Given the description of an element on the screen output the (x, y) to click on. 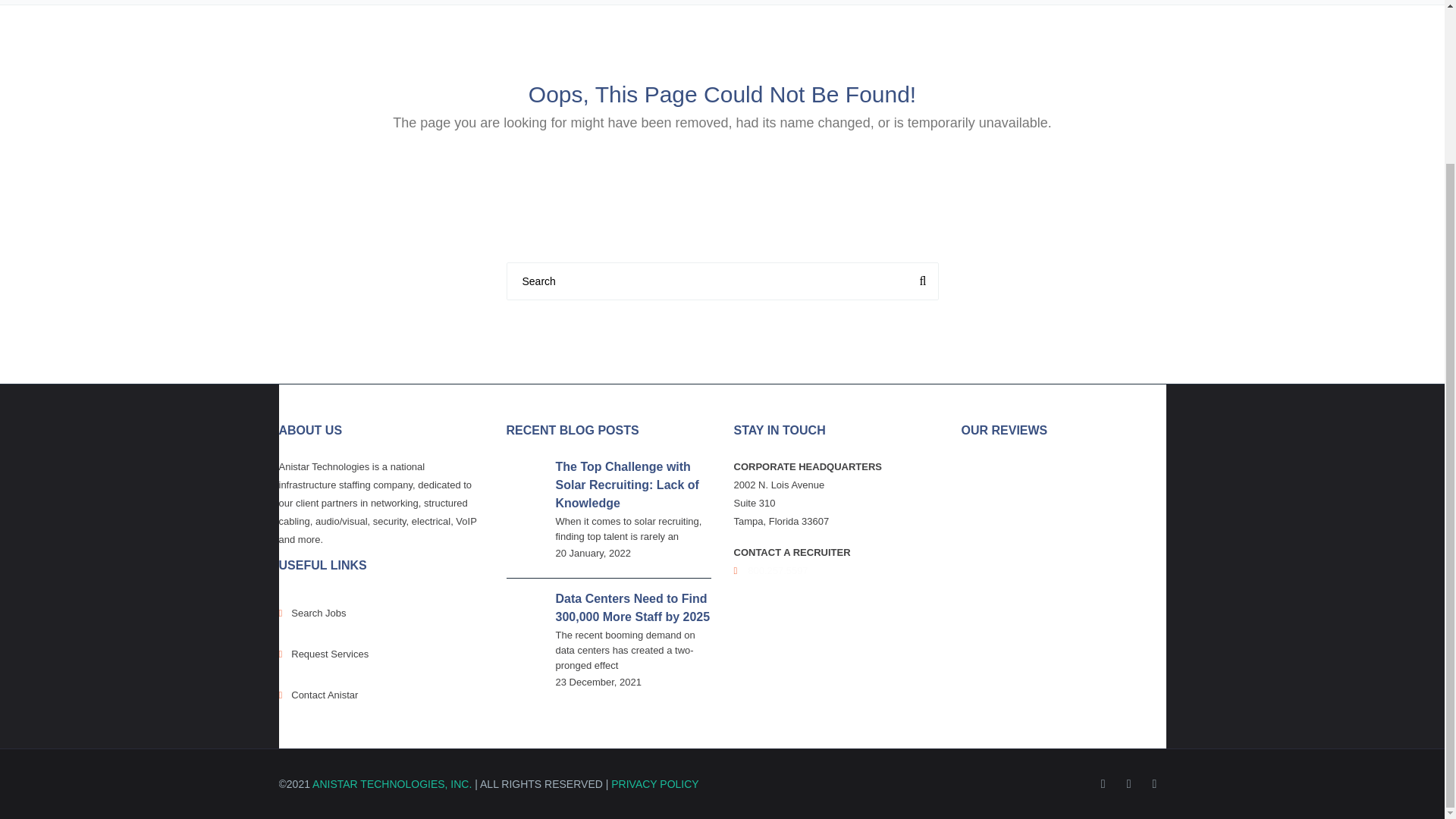
Search Jobs (381, 612)
The Top Challenge with Solar Recruiting: Lack of Knowledge (626, 484)
Request Services (381, 653)
Data Centers Need to Find 300,000 More Staff by 2025 (632, 607)
Contact Anistar (381, 694)
